Given the description of an element on the screen output the (x, y) to click on. 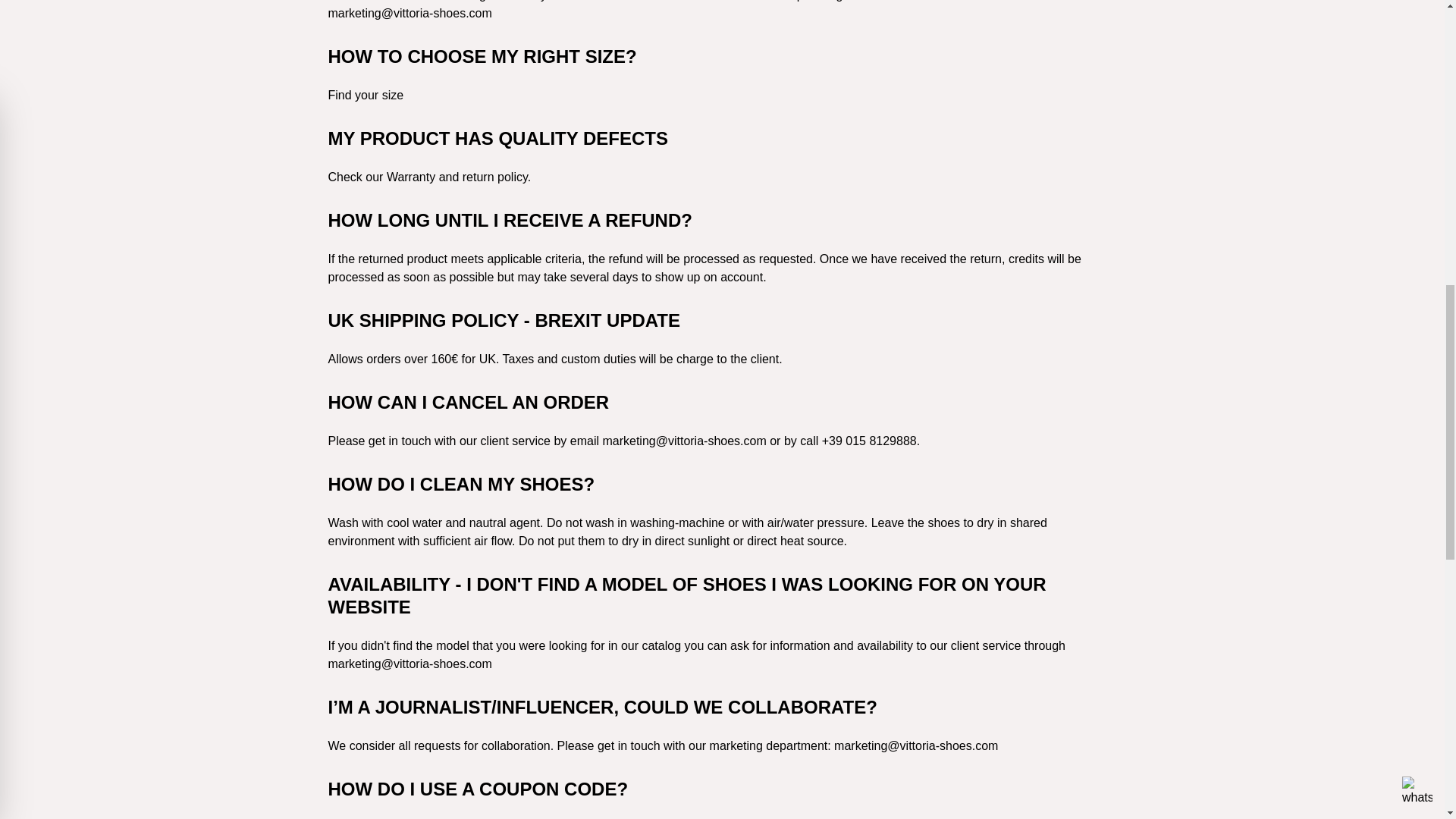
Warranty (411, 176)
guide-size (365, 94)
return-policy (495, 176)
warranty-policy (411, 176)
return policy (495, 176)
Find your size (365, 94)
